Given the description of an element on the screen output the (x, y) to click on. 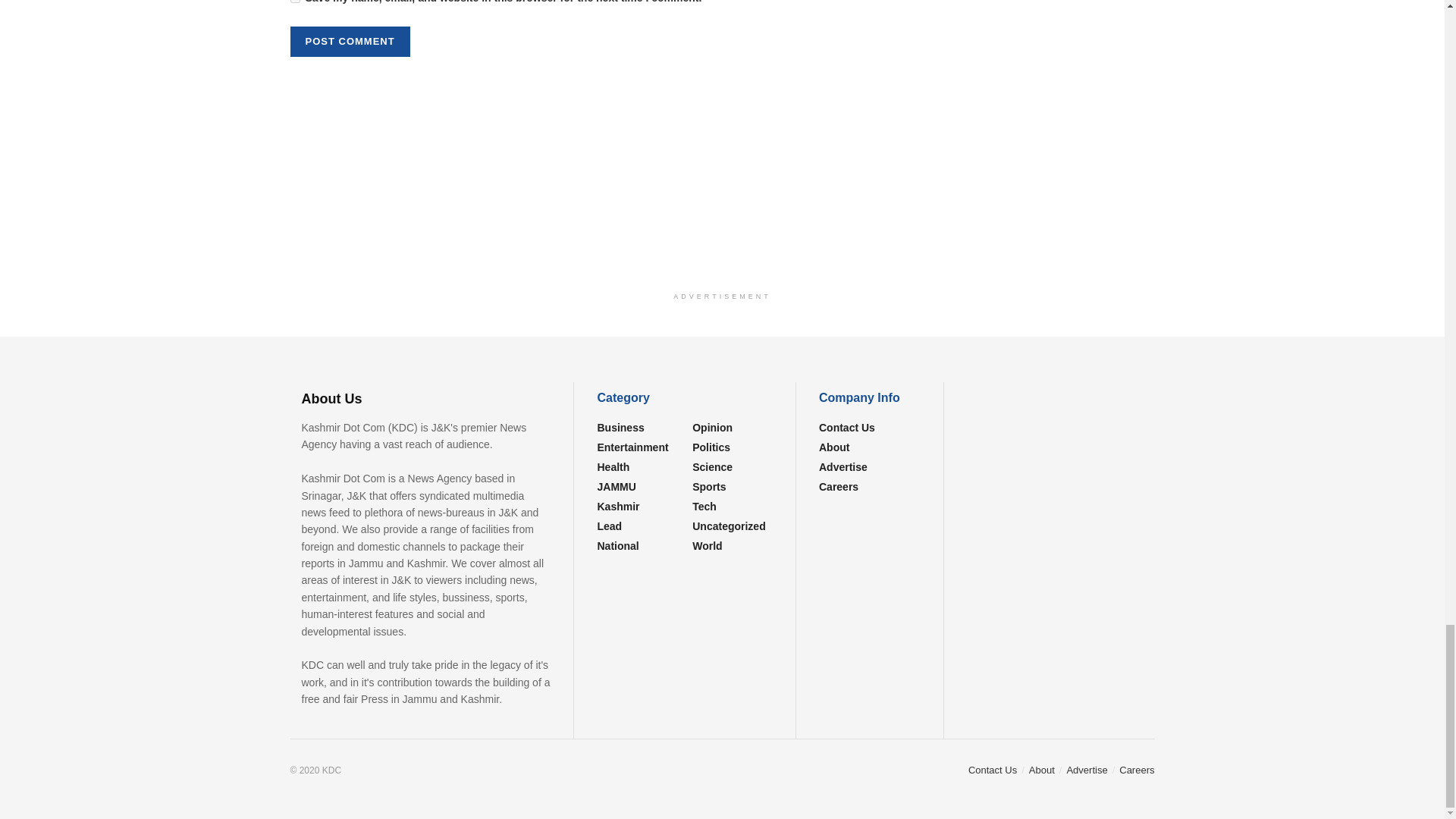
Post Comment (349, 41)
yes (294, 1)
